Given the description of an element on the screen output the (x, y) to click on. 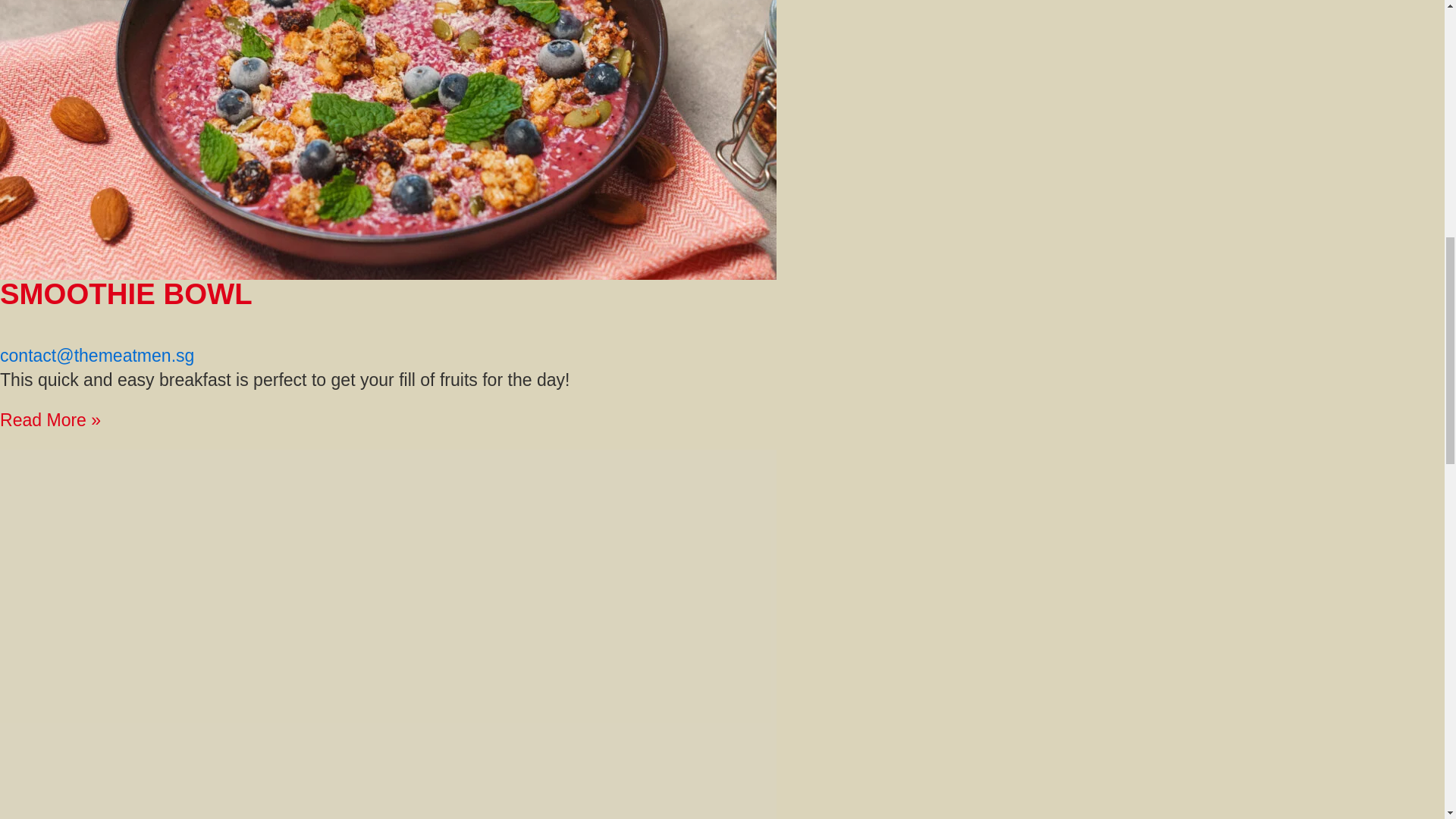
SMOOTHIE BOWL (125, 293)
